Given the description of an element on the screen output the (x, y) to click on. 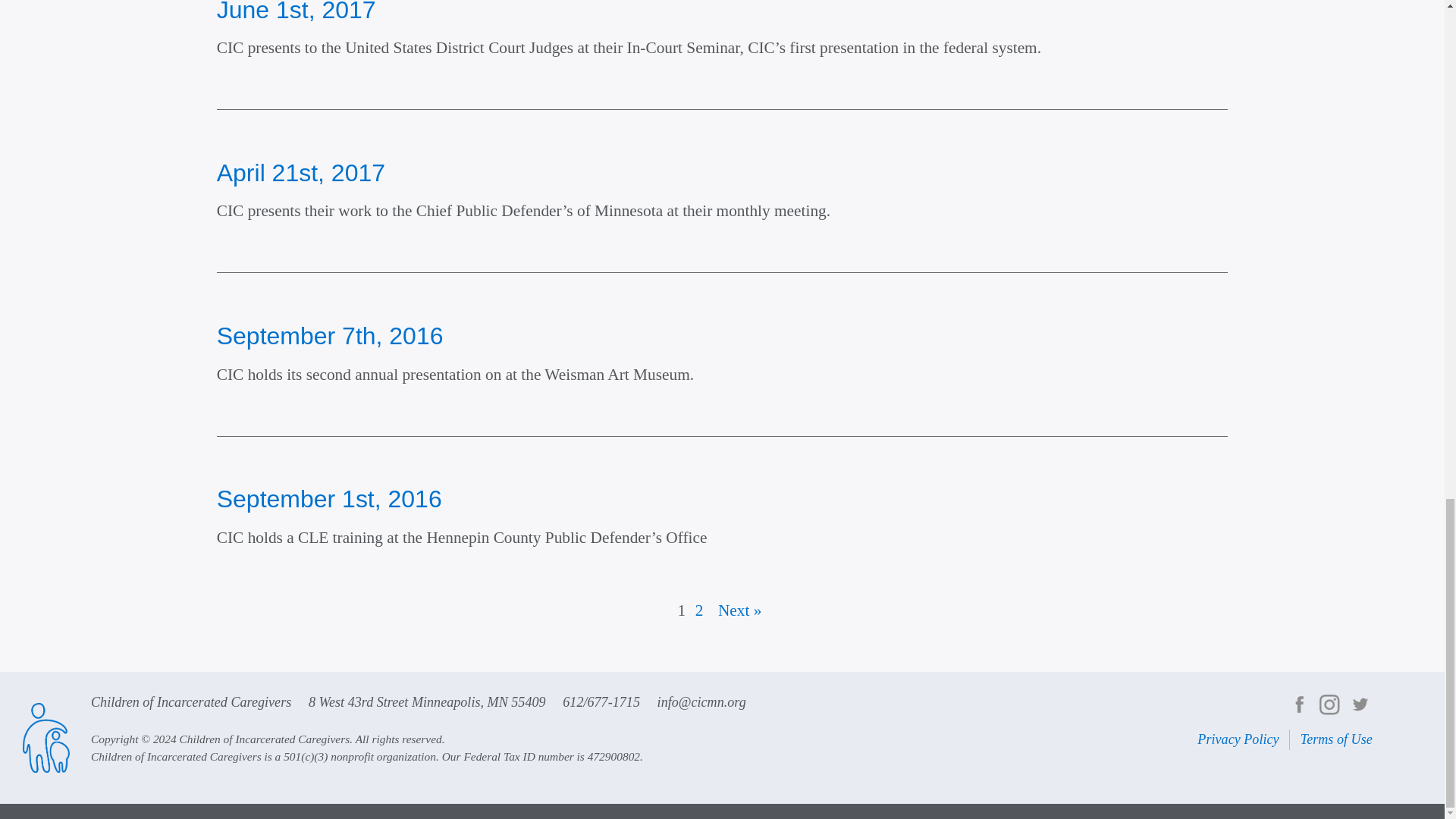
September 7th, 2016 (330, 335)
June 1st, 2017 (295, 11)
April 21st, 2017 (300, 172)
September 1st, 2016 (329, 498)
